Given the description of an element on the screen output the (x, y) to click on. 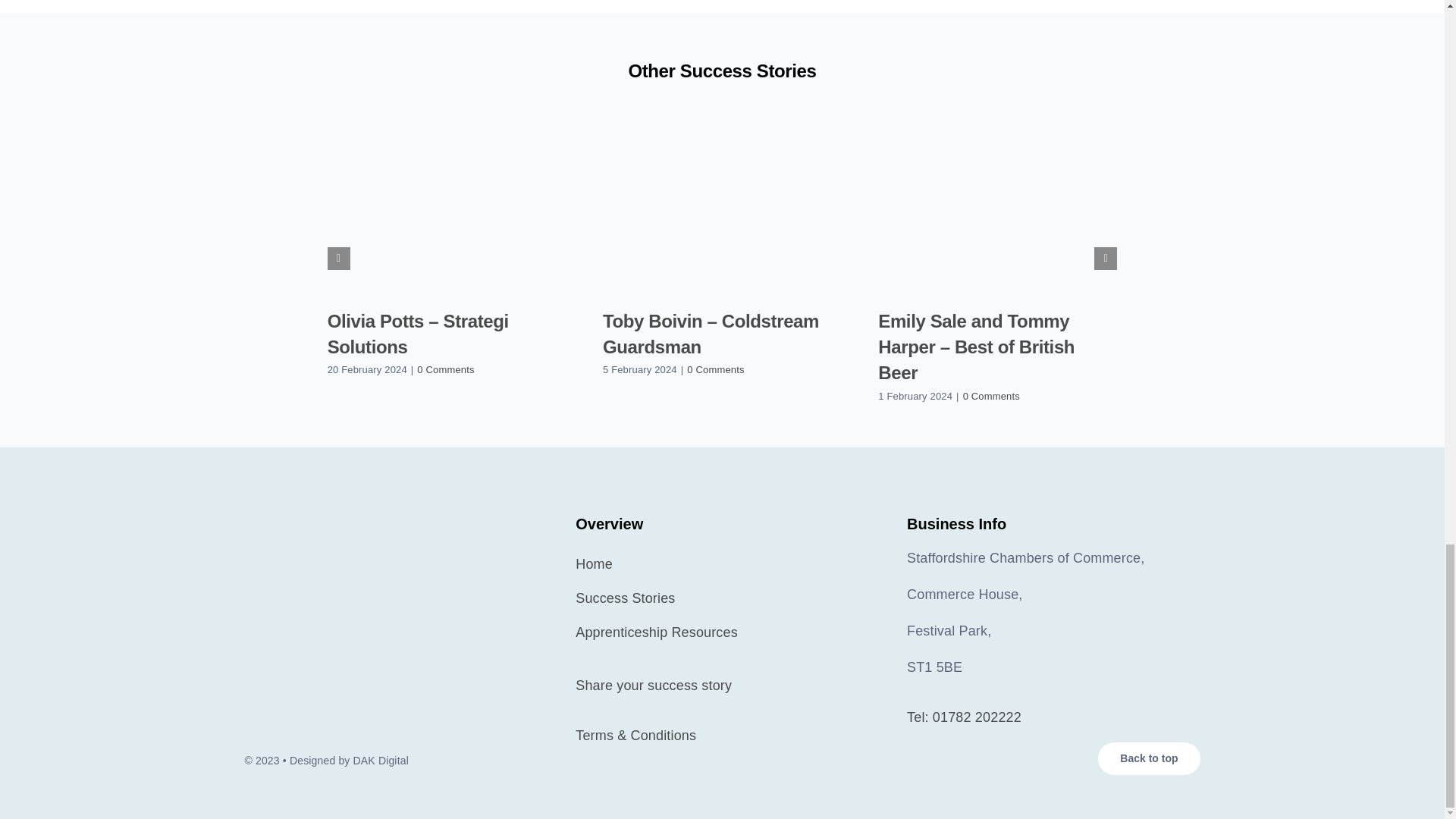
0 Comments (991, 396)
0 Comments (715, 369)
0 Comments (445, 369)
